Given the description of an element on the screen output the (x, y) to click on. 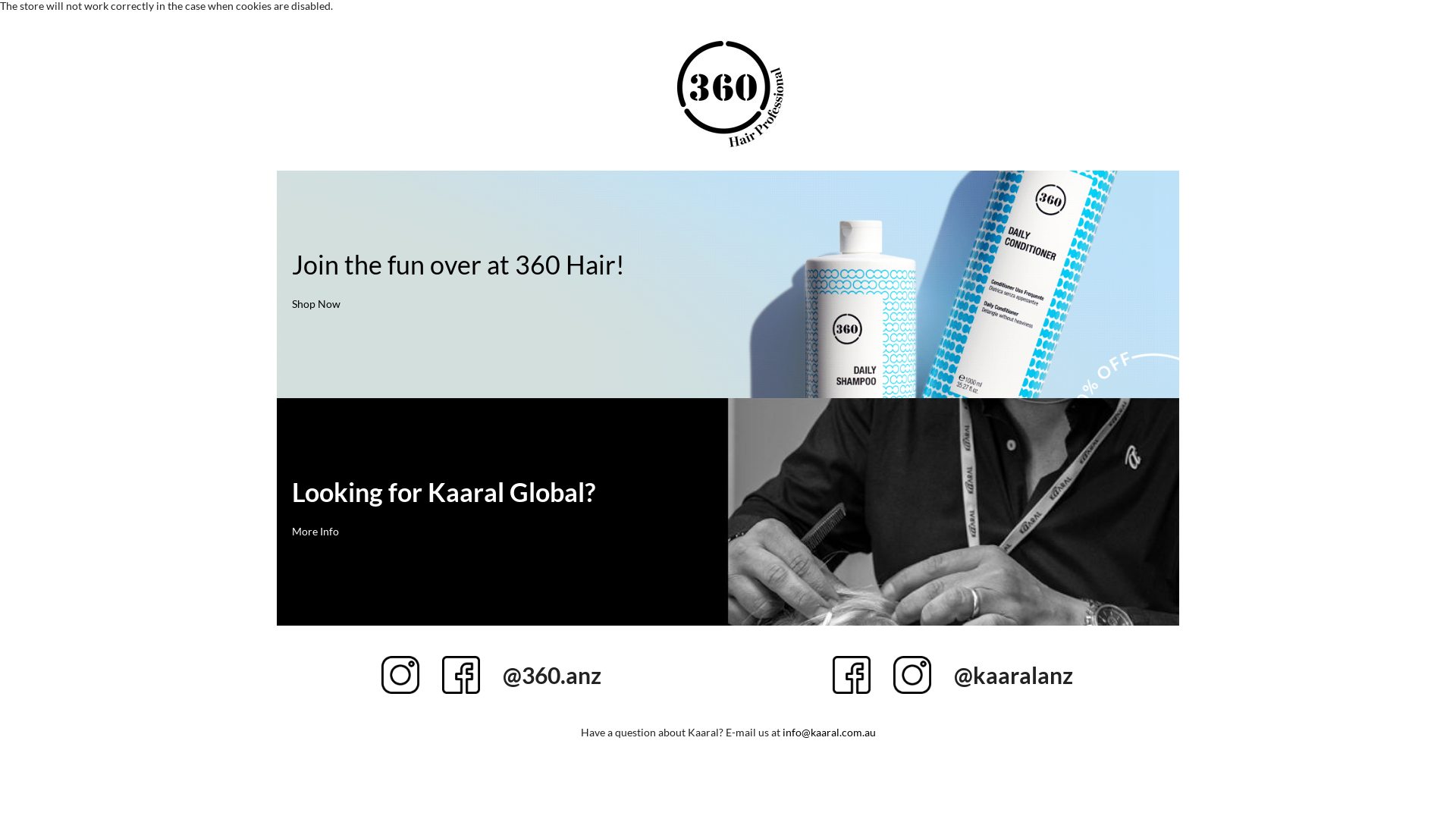
info@kaaral.com.au Element type: text (828, 731)
Shop Now Element type: text (315, 303)
More Info Element type: text (314, 530)
